Given the description of an element on the screen output the (x, y) to click on. 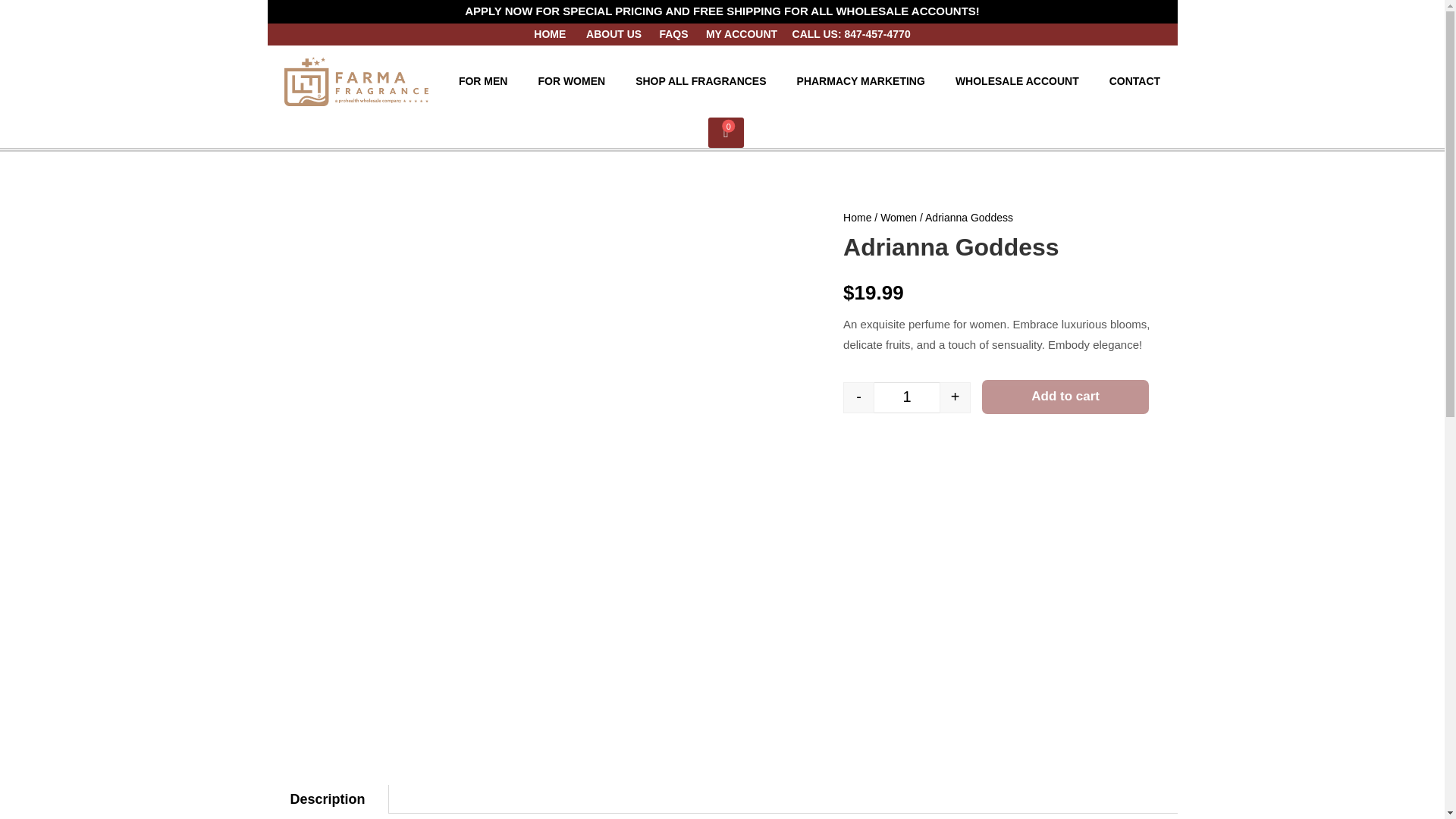
Description (326, 799)
- (859, 397)
1 (907, 397)
FOR MEN (482, 80)
FOR WOMEN (570, 80)
PHARMACY MARKETING (861, 80)
CALL US: 847-457-4770 (851, 33)
Women (898, 217)
CONTACT (1134, 80)
WHOLESALE ACCOUNT (1016, 80)
Add to cart (1064, 397)
ABOUT US  (615, 33)
FAQS (673, 33)
HOME (551, 33)
